Given the description of an element on the screen output the (x, y) to click on. 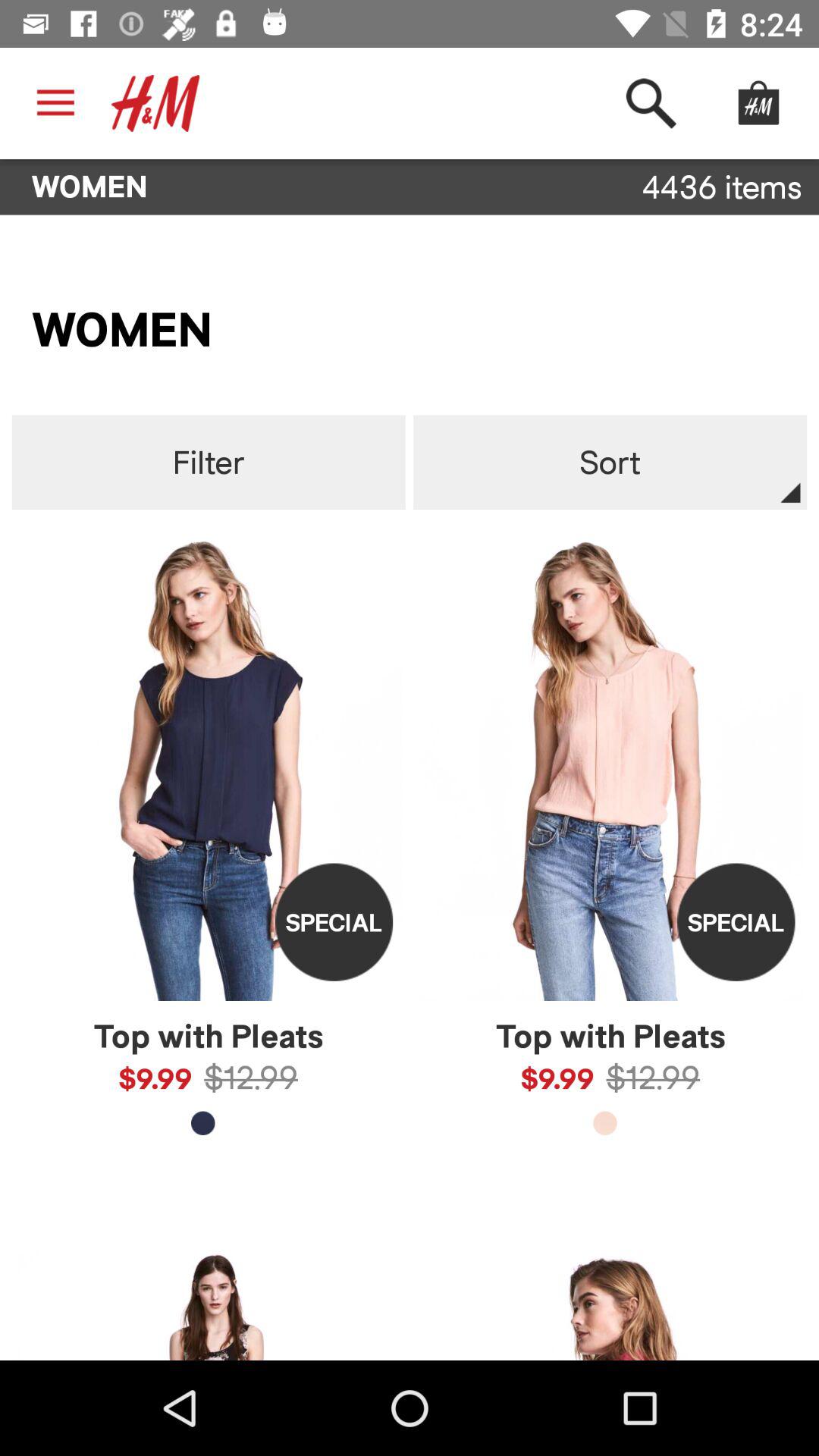
select the item next to sort icon (208, 462)
